Given the description of an element on the screen output the (x, y) to click on. 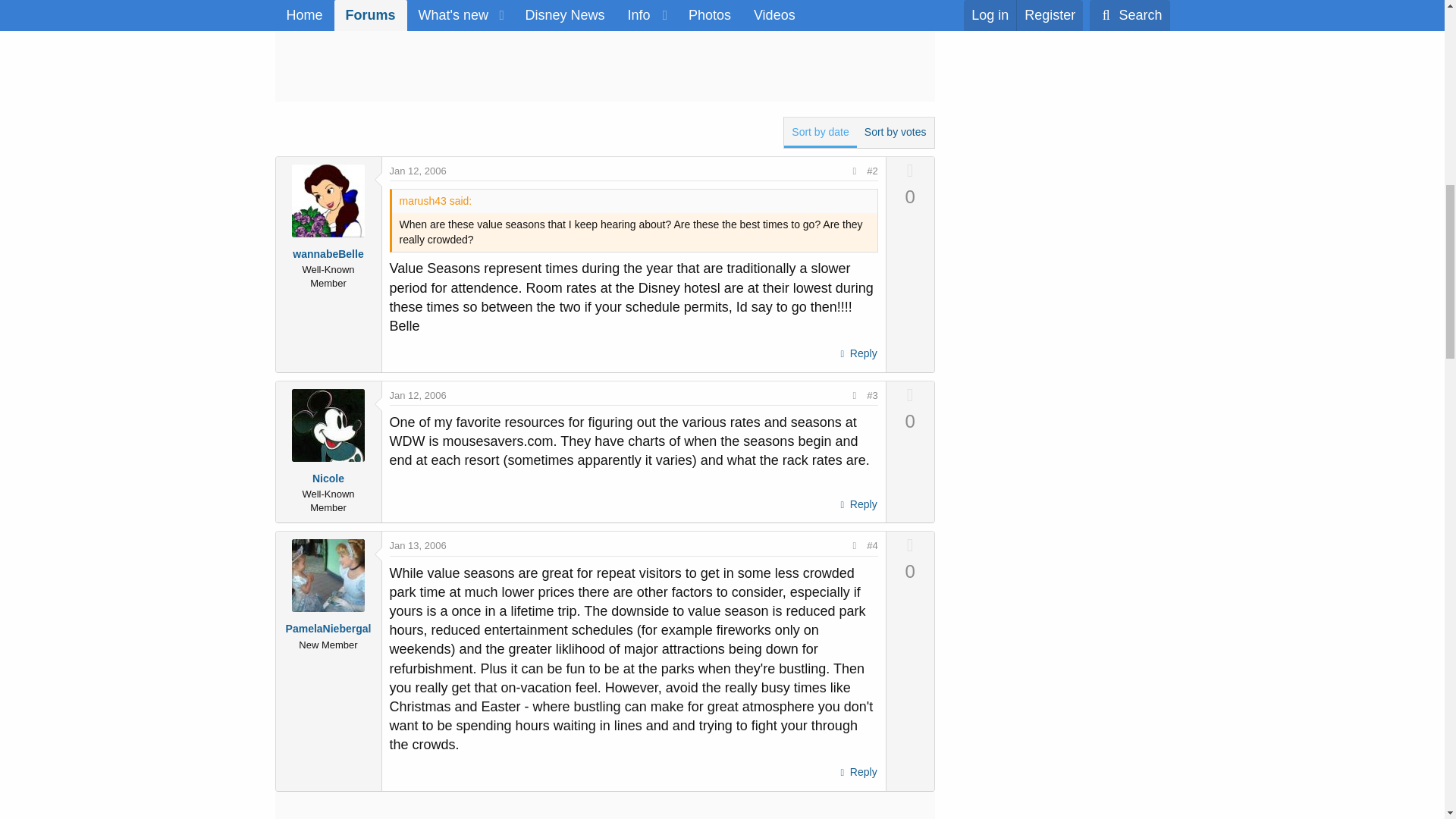
Jan 12, 2006 at 8:43 PM (418, 170)
Reply, quoting this message (857, 353)
Reply, quoting this message (857, 504)
Reply, quoting this message (857, 772)
Jan 13, 2006 at 3:56 AM (418, 545)
Jan 12, 2006 at 8:44 PM (418, 395)
